Given the description of an element on the screen output the (x, y) to click on. 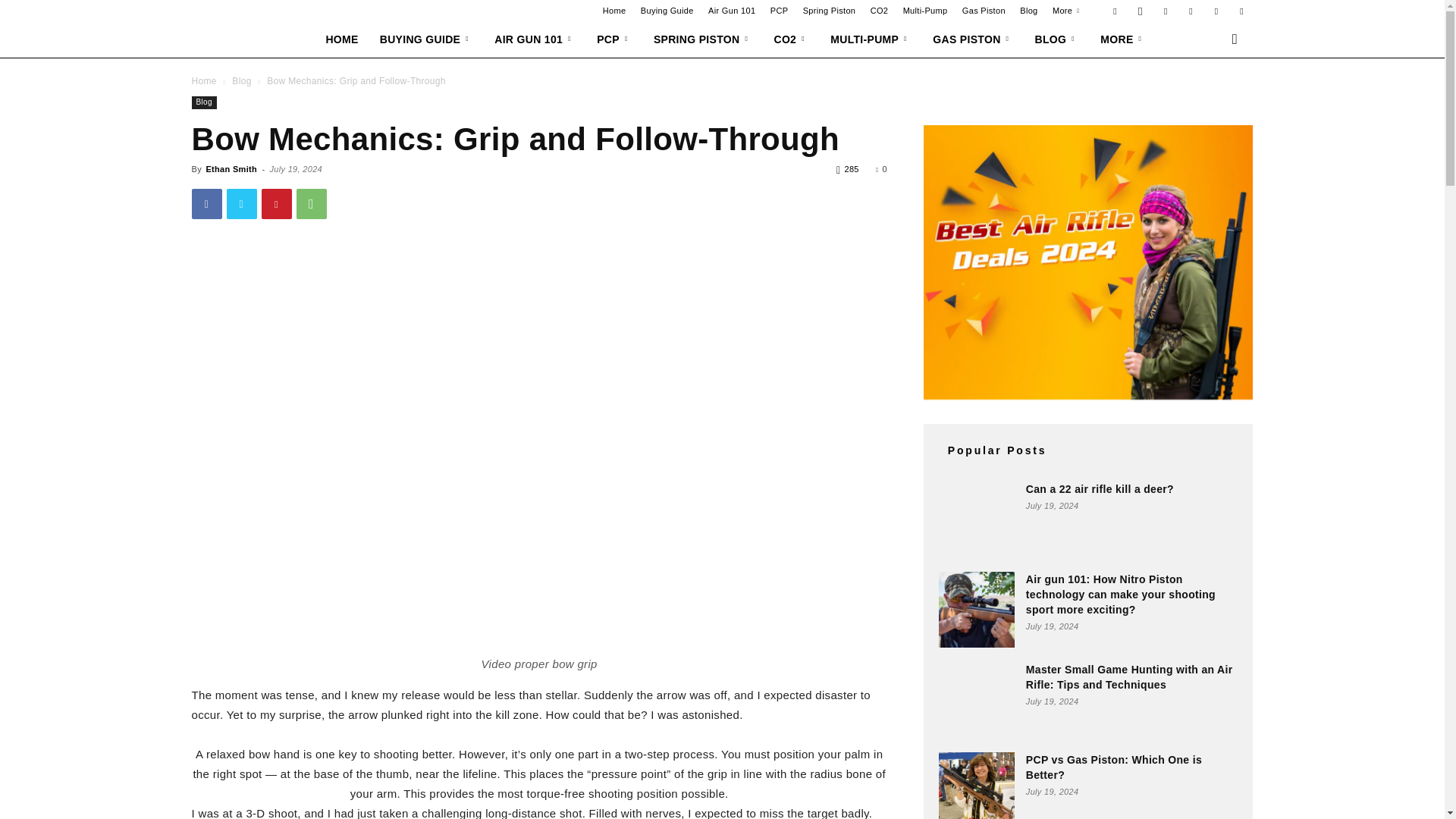
Pinterest (1165, 10)
Soundcloud (1190, 10)
Home (614, 10)
Buying Guide (667, 10)
Instagram (1140, 10)
Tumblr (1216, 10)
Twitter (1241, 10)
Facebook (1114, 10)
